Given the description of an element on the screen output the (x, y) to click on. 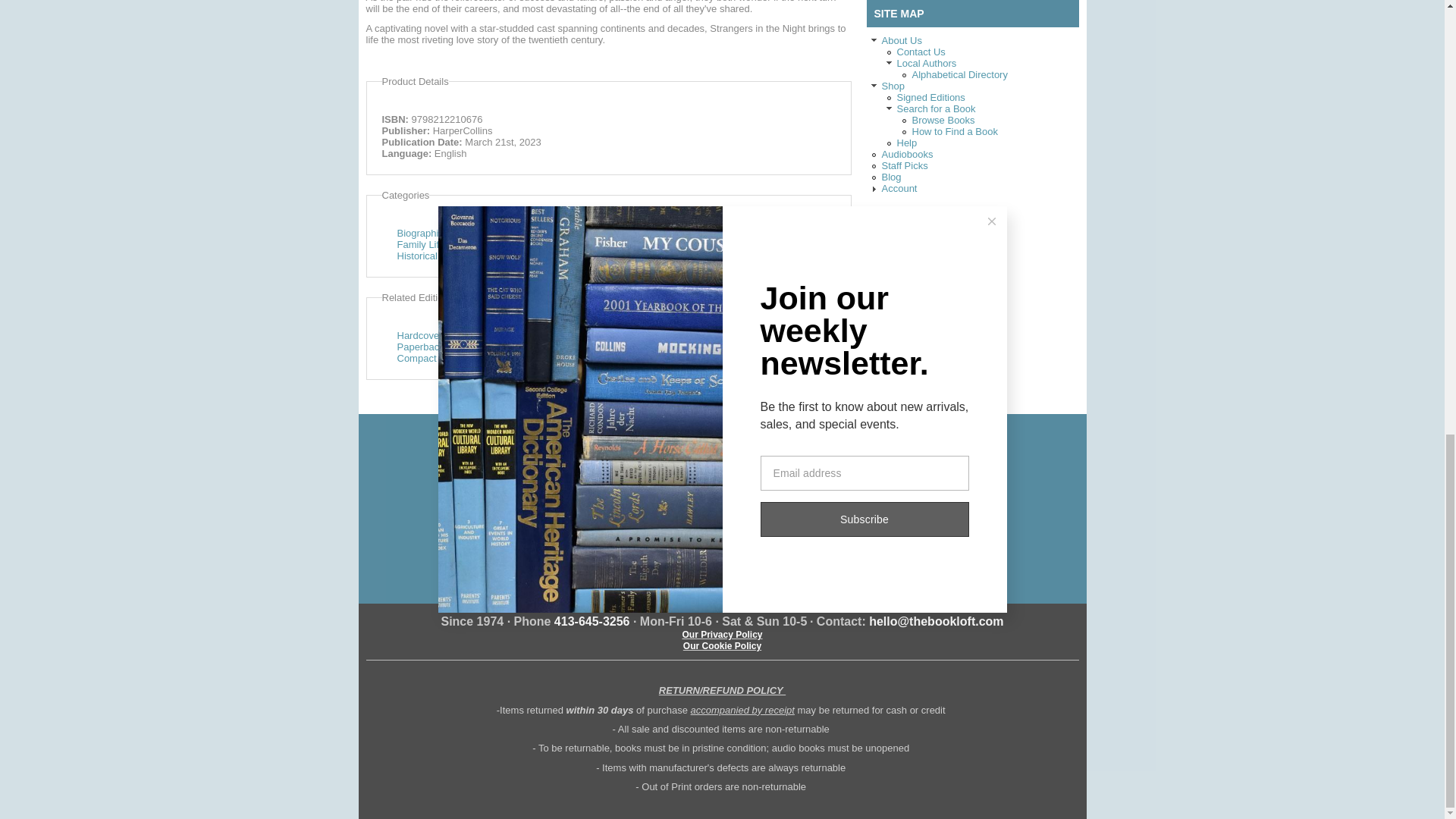
About Us (900, 40)
The various ways to contact us, depending on what you want (920, 51)
Biographical (424, 233)
Local Author Alphabetical Directory (959, 74)
Historical - General (439, 255)
Contact Us (920, 51)
